Given the description of an element on the screen output the (x, y) to click on. 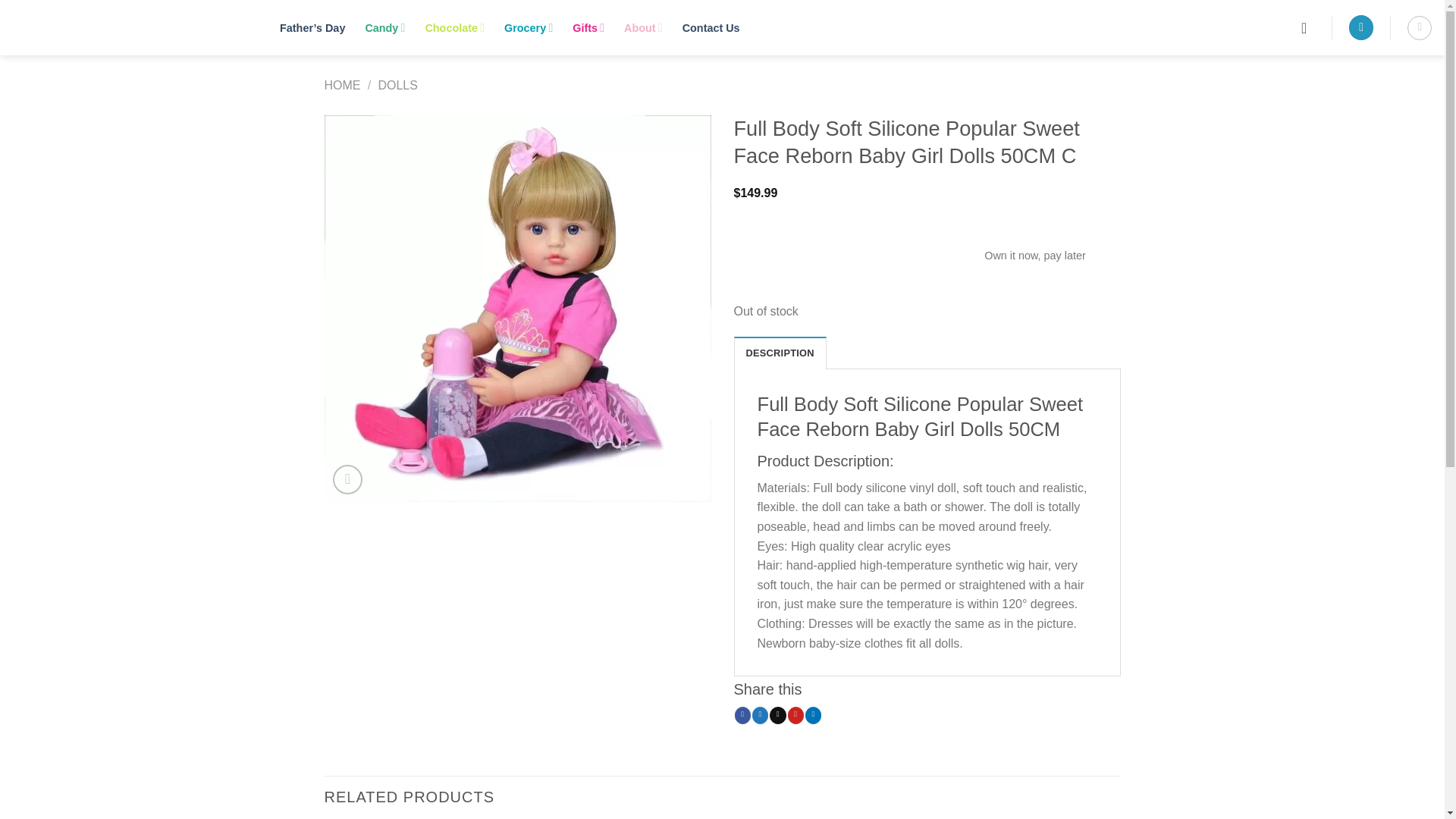
Email to a Friend (778, 714)
Zoom (347, 479)
Contact Us (710, 26)
Chocolate (454, 27)
Share on Facebook (743, 714)
Cart (1419, 27)
Pin on Pinterest (795, 714)
Grocery (528, 27)
Gifts (588, 27)
About (643, 27)
Share on LinkedIn (813, 714)
Candy (384, 27)
Share on Twitter (760, 714)
